Given the description of an element on the screen output the (x, y) to click on. 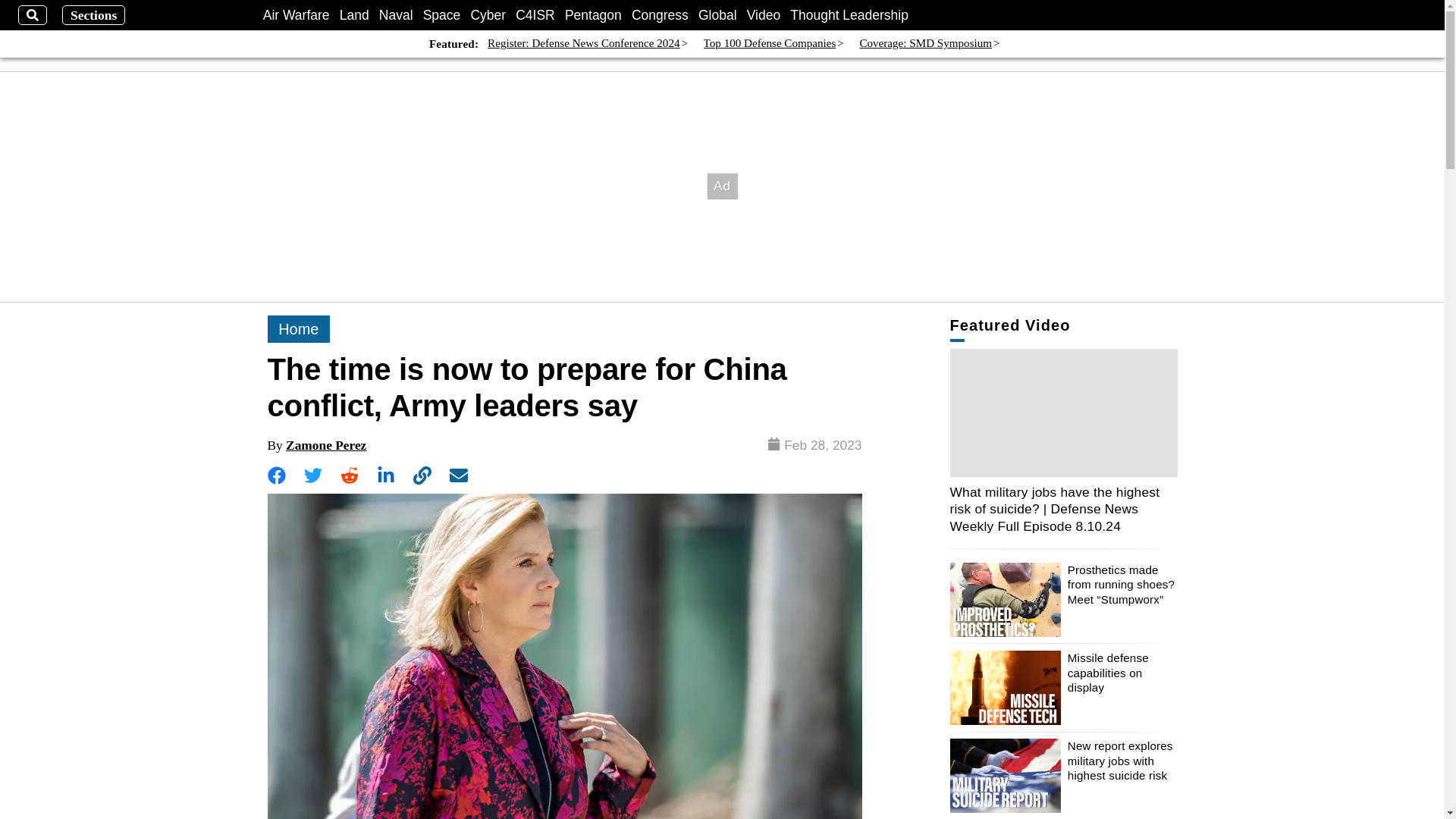
Naval (395, 14)
Pentagon (592, 14)
Space (442, 14)
Air Warfare (296, 14)
Video (763, 14)
Land (354, 14)
Global (717, 14)
Congress (659, 14)
Thought Leadership (849, 14)
Sections (93, 14)
